Given the description of an element on the screen output the (x, y) to click on. 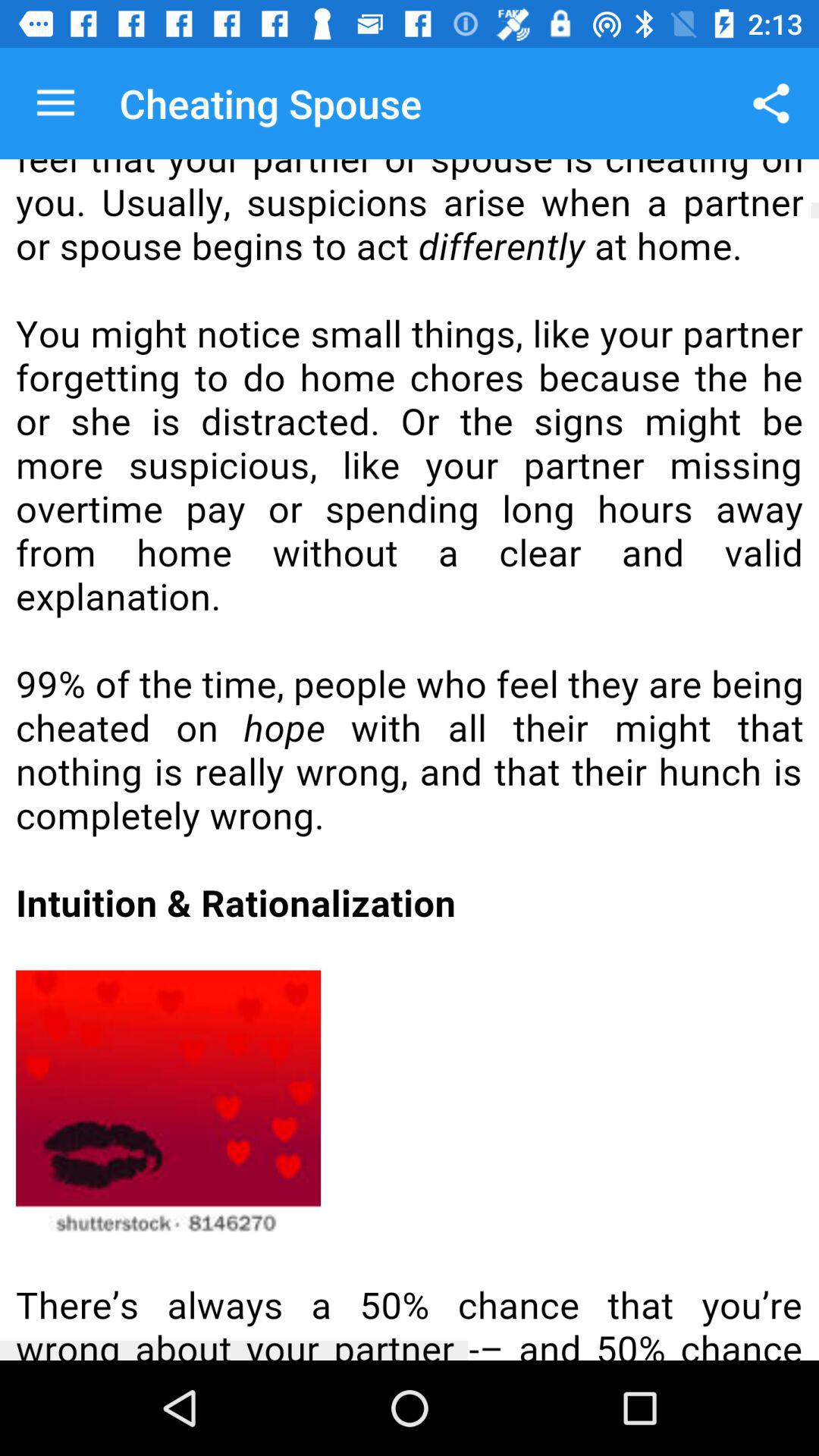
scrollable page (409, 759)
